Given the description of an element on the screen output the (x, y) to click on. 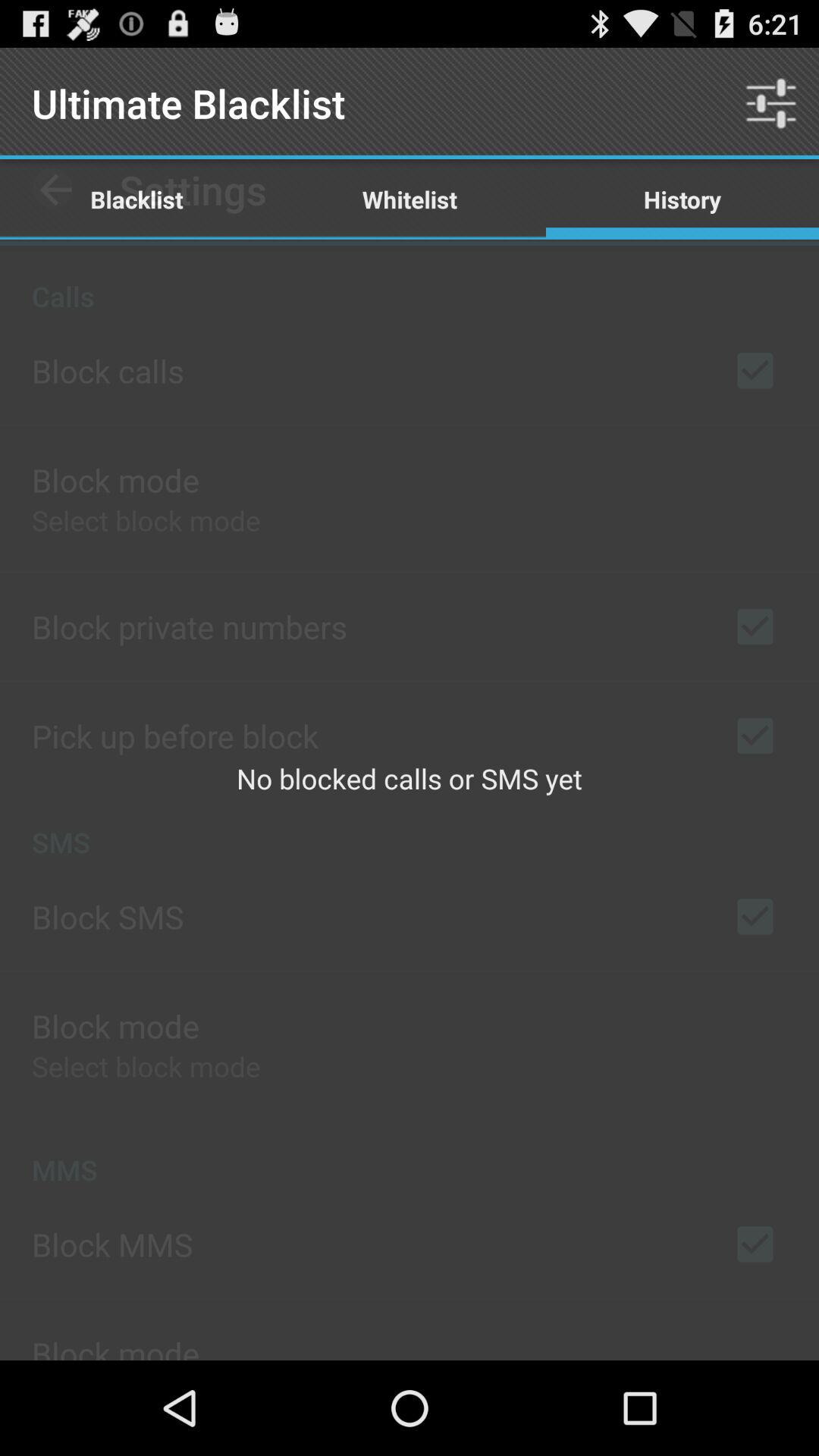
launch the whitelist (409, 199)
